Given the description of an element on the screen output the (x, y) to click on. 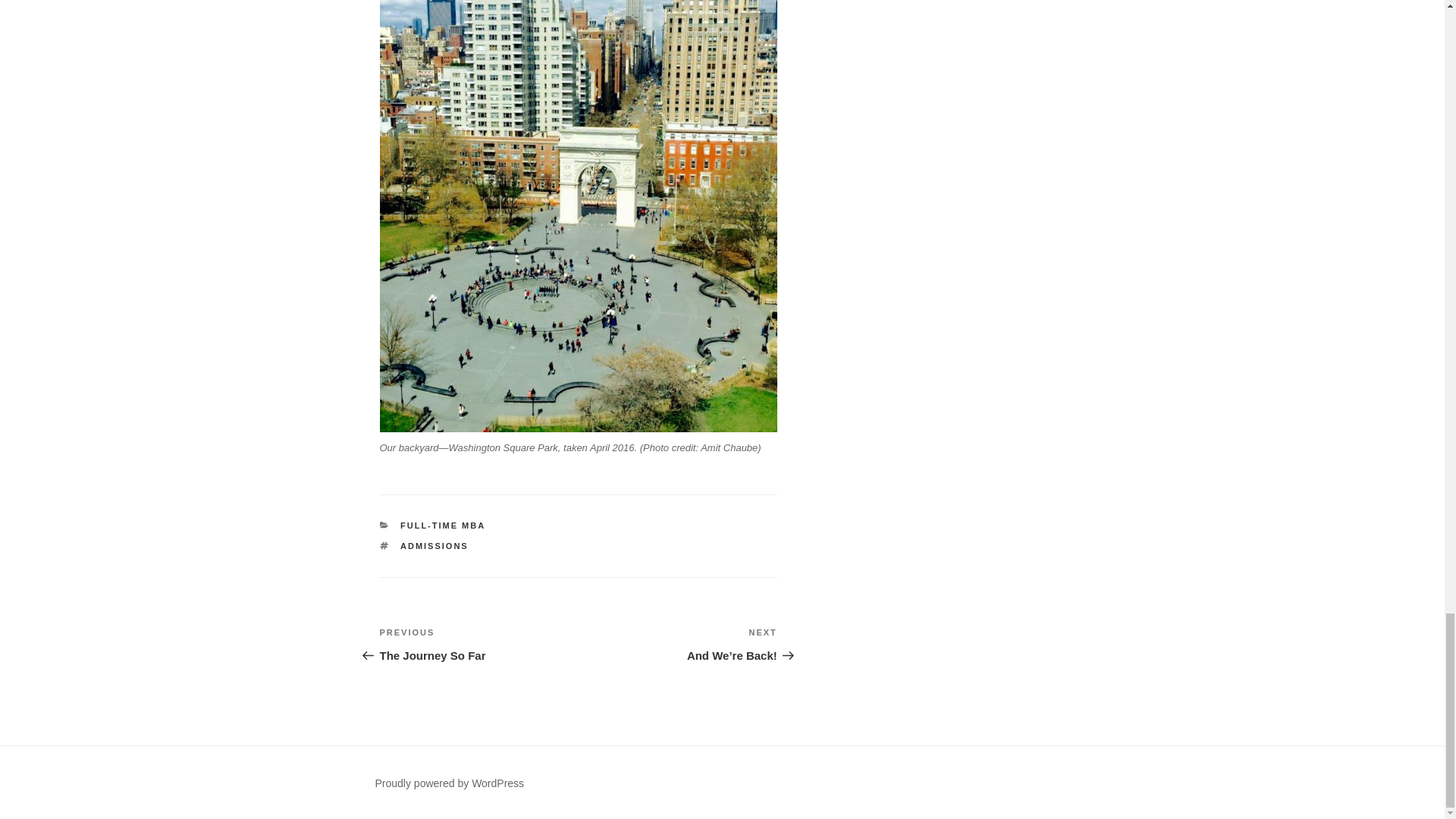
ADMISSIONS (434, 545)
FULL-TIME MBA (478, 644)
